Given the description of an element on the screen output the (x, y) to click on. 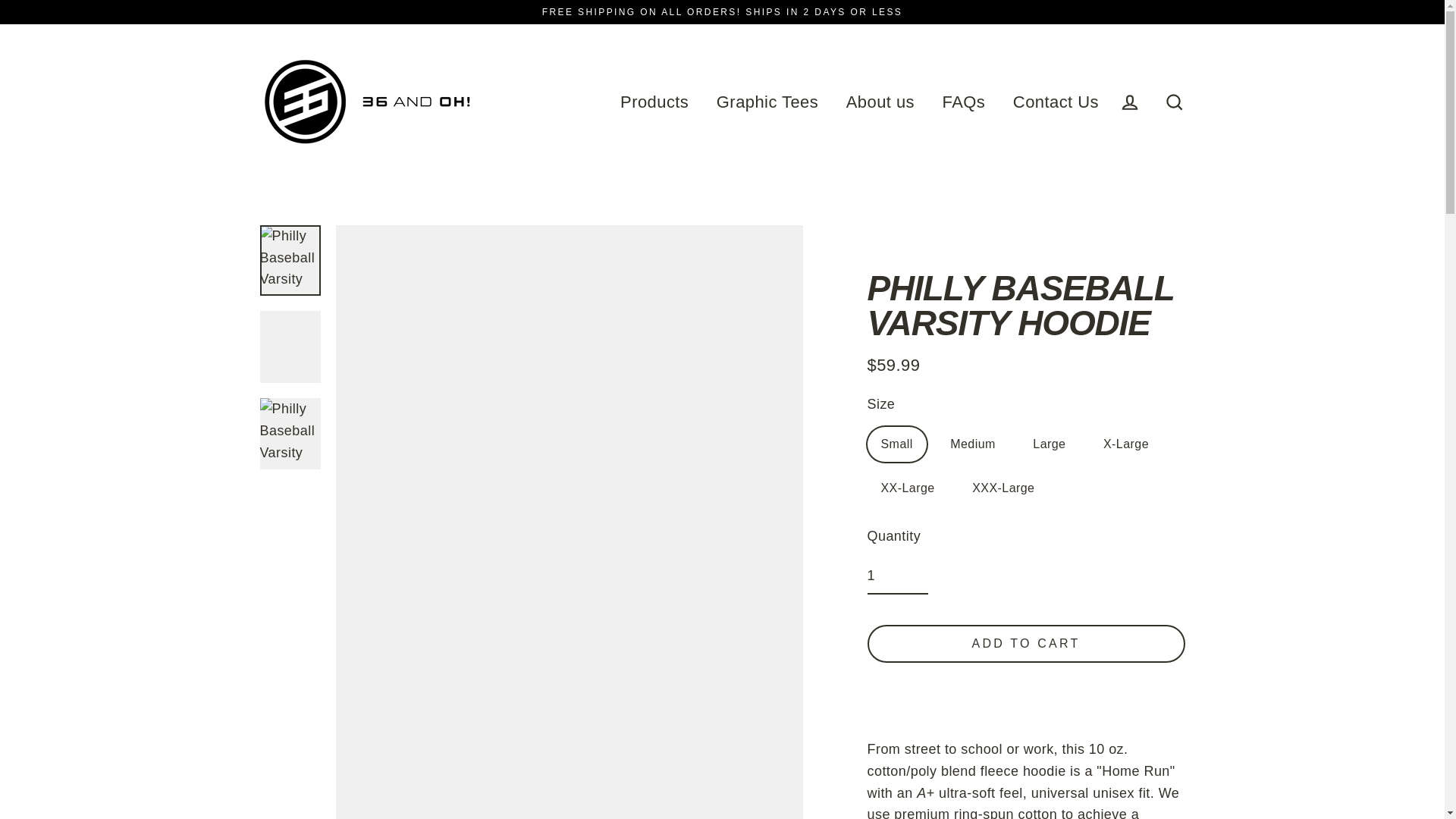
Contact Us (1055, 101)
Graphic Tees (766, 101)
Search (1173, 101)
1 (897, 576)
Products (654, 101)
